Given the description of an element on the screen output the (x, y) to click on. 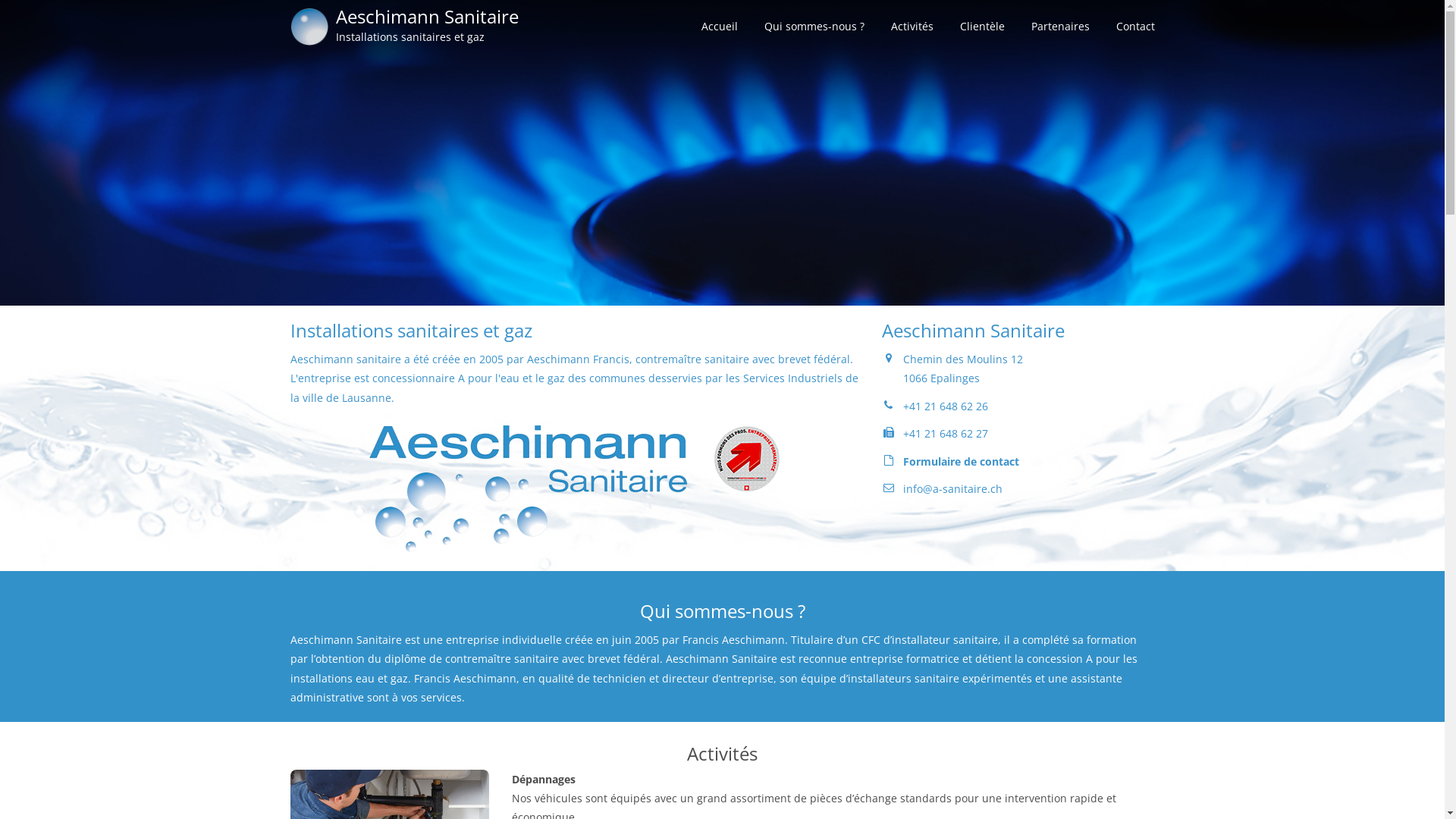
Partenaires Element type: text (1060, 26)
Formulaire de contact Element type: text (960, 461)
info@a-sanitaire.ch Element type: text (951, 488)
Qui sommes-nous ? Element type: text (814, 26)
Contact Element type: text (1135, 26)
Accueil Element type: text (718, 26)
Aeschimann Sanitaire Element type: text (426, 25)
